Given the description of an element on the screen output the (x, y) to click on. 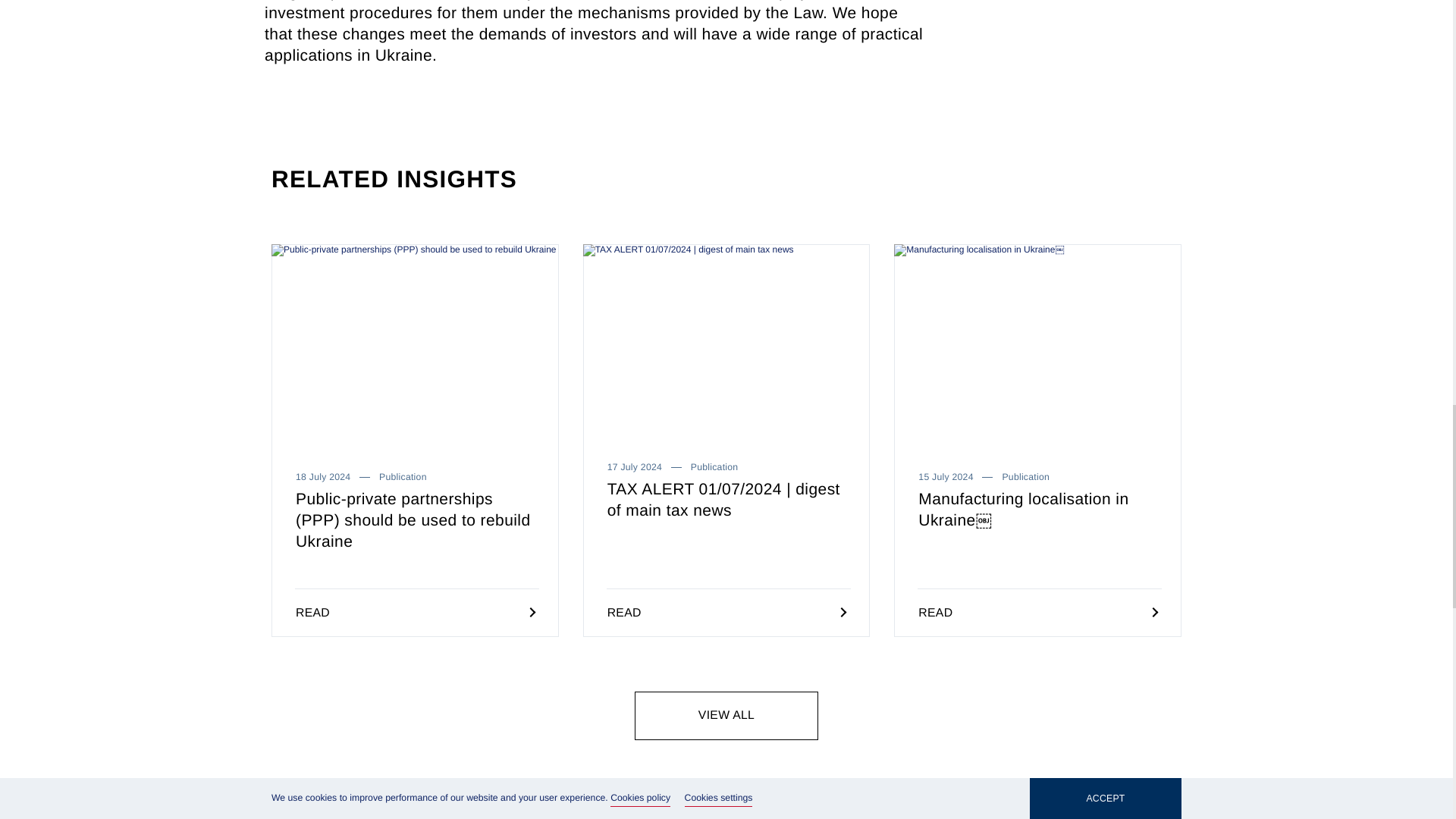
VIEW ALL (726, 715)
READ (726, 612)
READ (1036, 612)
READ (414, 612)
